Given the description of an element on the screen output the (x, y) to click on. 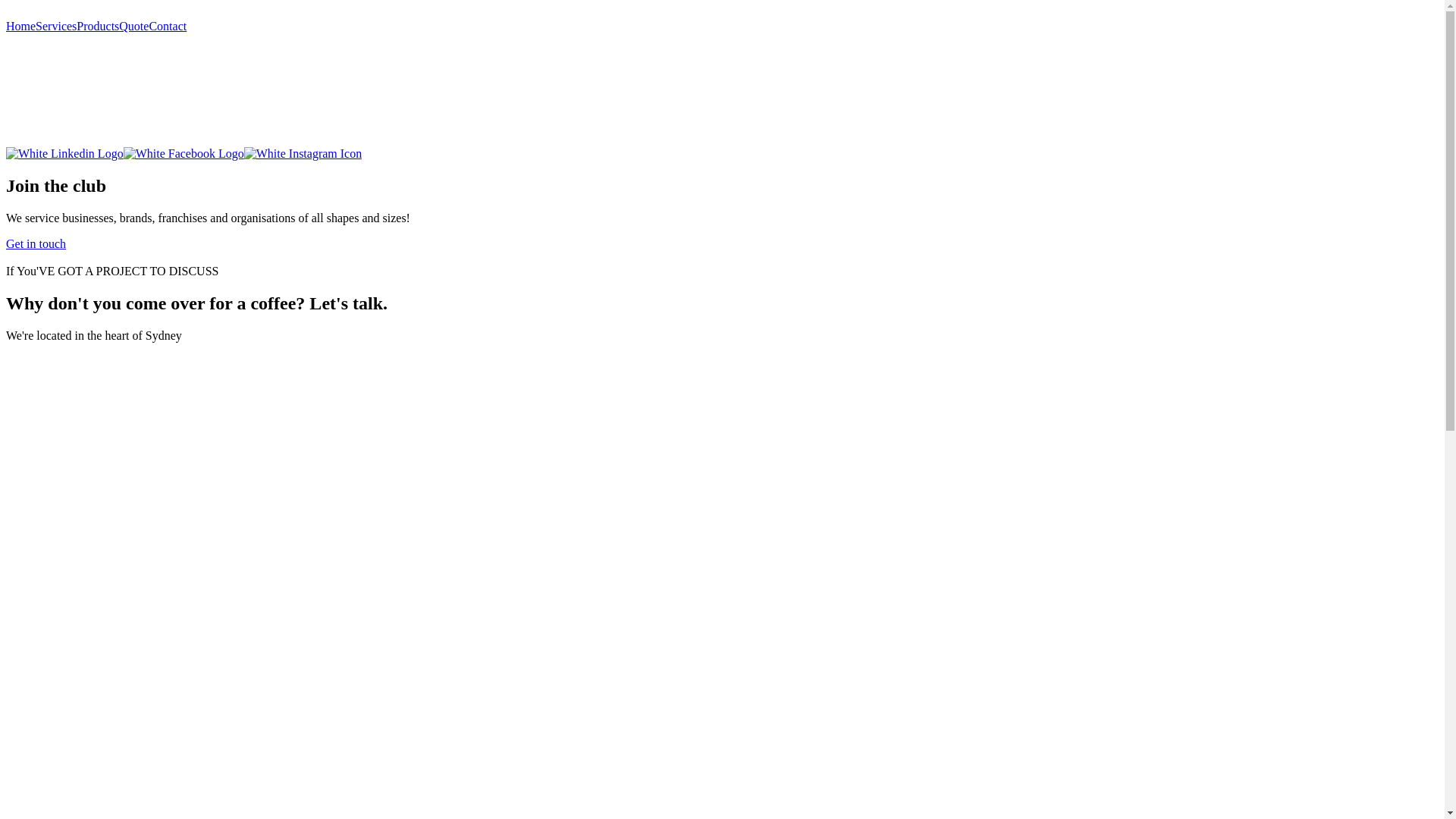
Contact Element type: text (167, 25)
Services Element type: text (55, 25)
Products Element type: text (97, 25)
Quote Element type: text (133, 25)
Home Element type: text (20, 25)
Get in touch Element type: text (35, 243)
